Given the description of an element on the screen output the (x, y) to click on. 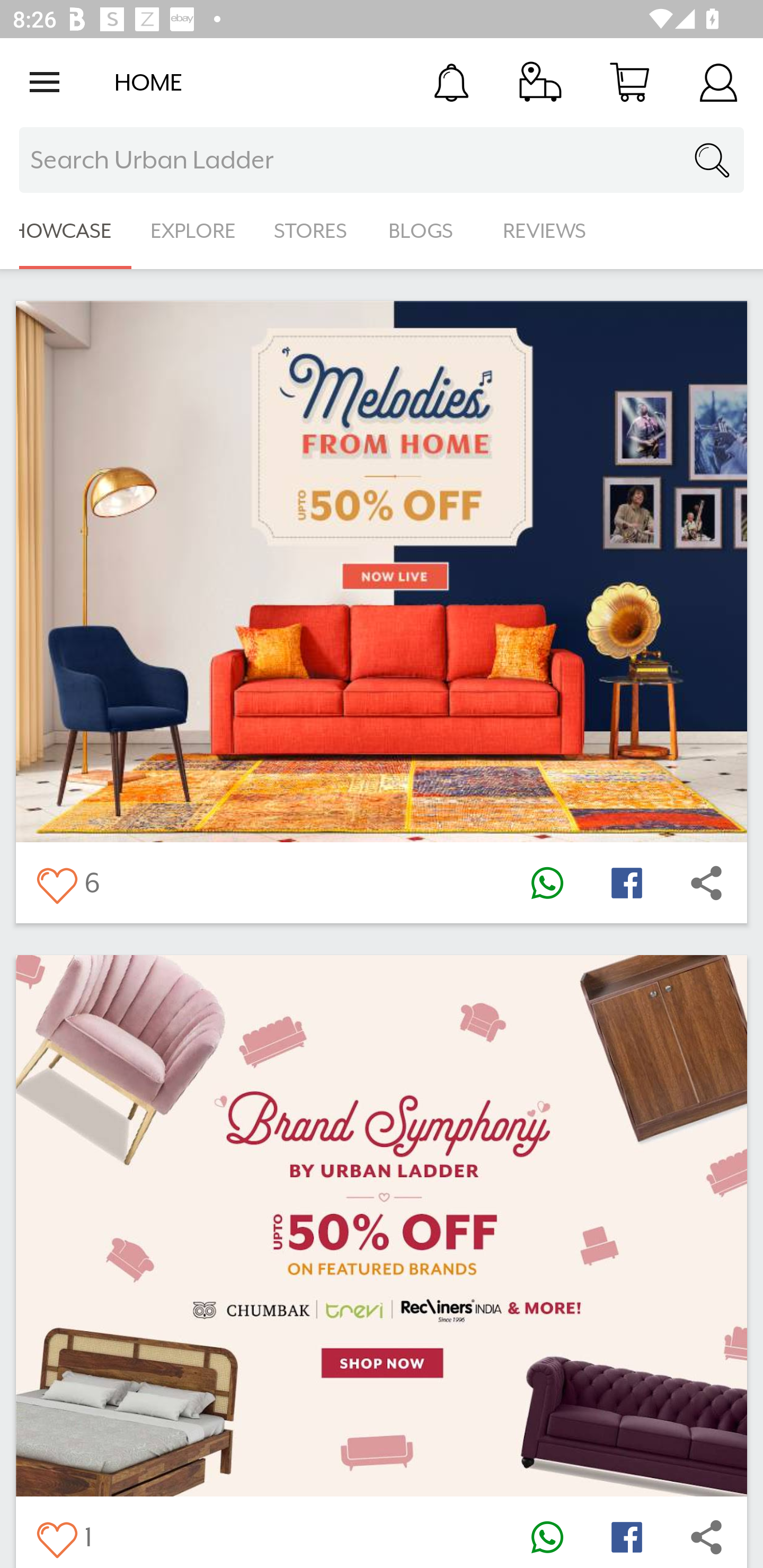
Open navigation drawer (44, 82)
Notification (450, 81)
Track Order (540, 81)
Cart (629, 81)
Account Details (718, 81)
Search Urban Ladder  (381, 159)
SHOWCASE (65, 230)
EXPLORE (192, 230)
STORES (311, 230)
BLOGS (426, 230)
REVIEWS (544, 230)
 (55, 882)
 (547, 882)
 (626, 882)
 (706, 882)
 (55, 1536)
 (547, 1536)
 (626, 1536)
 (706, 1536)
